Given the description of an element on the screen output the (x, y) to click on. 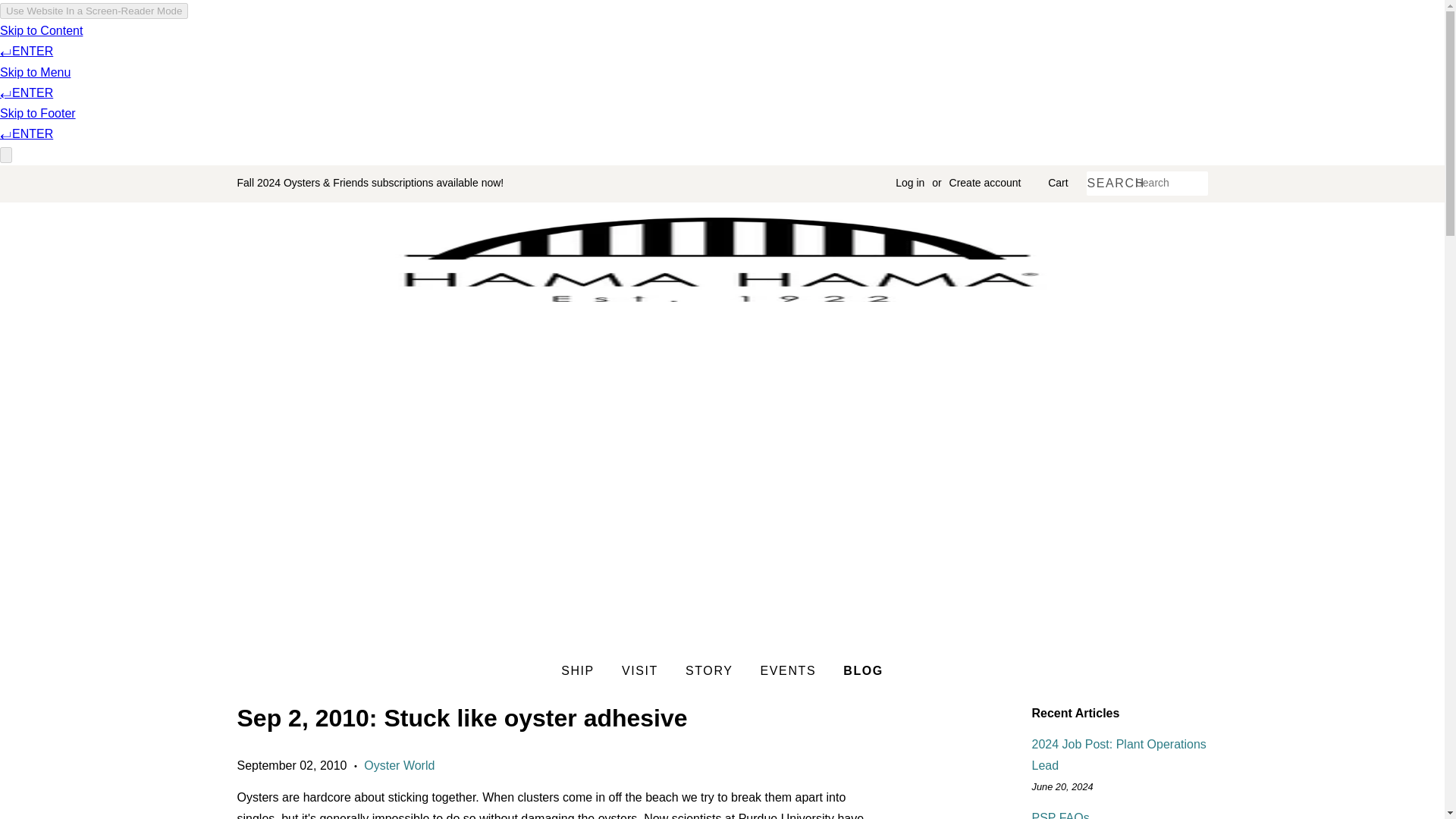
Create account (985, 182)
SEARCH (1110, 183)
Log in (909, 182)
Cart (1057, 183)
